Given the description of an element on the screen output the (x, y) to click on. 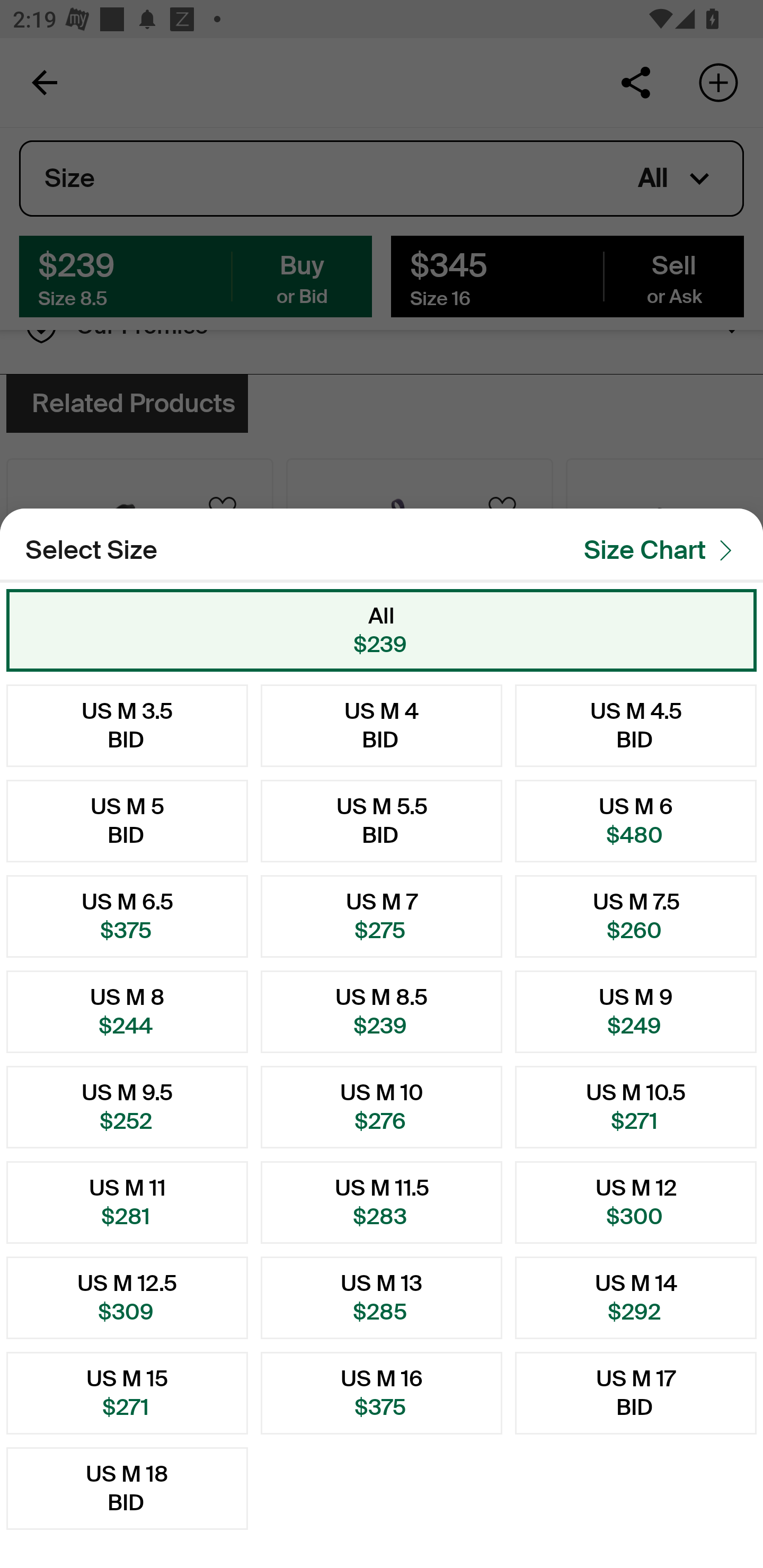
Size Chart (663, 550)
All $239 (381, 630)
US M 3.5 BID (126, 724)
US M 4 BID (381, 724)
US M 4.5 BID (635, 724)
US M 5 BID (126, 820)
US M 5.5 BID (381, 820)
US M 6 $480 (635, 820)
US M 6.5 $375 (126, 916)
US M 7 $275 (381, 916)
US M 7.5 $260 (635, 916)
US M 8 $244 (126, 1011)
US M 8.5 $239 (381, 1011)
US M 9 $249 (635, 1011)
US M 9.5 $252 (126, 1106)
US M 10 $276 (381, 1106)
US M 10.5 $271 (635, 1106)
US M 11 $281 (126, 1202)
US M 11.5 $283 (381, 1202)
US M 12 $300 (635, 1202)
US M 12.5 $309 (126, 1297)
US M 13 $285 (381, 1297)
US M 14 $292 (635, 1297)
US M 15 $271 (126, 1392)
US M 16 $375 (381, 1392)
US M 17 BID (635, 1392)
US M 18 BID (126, 1488)
